Given the description of an element on the screen output the (x, y) to click on. 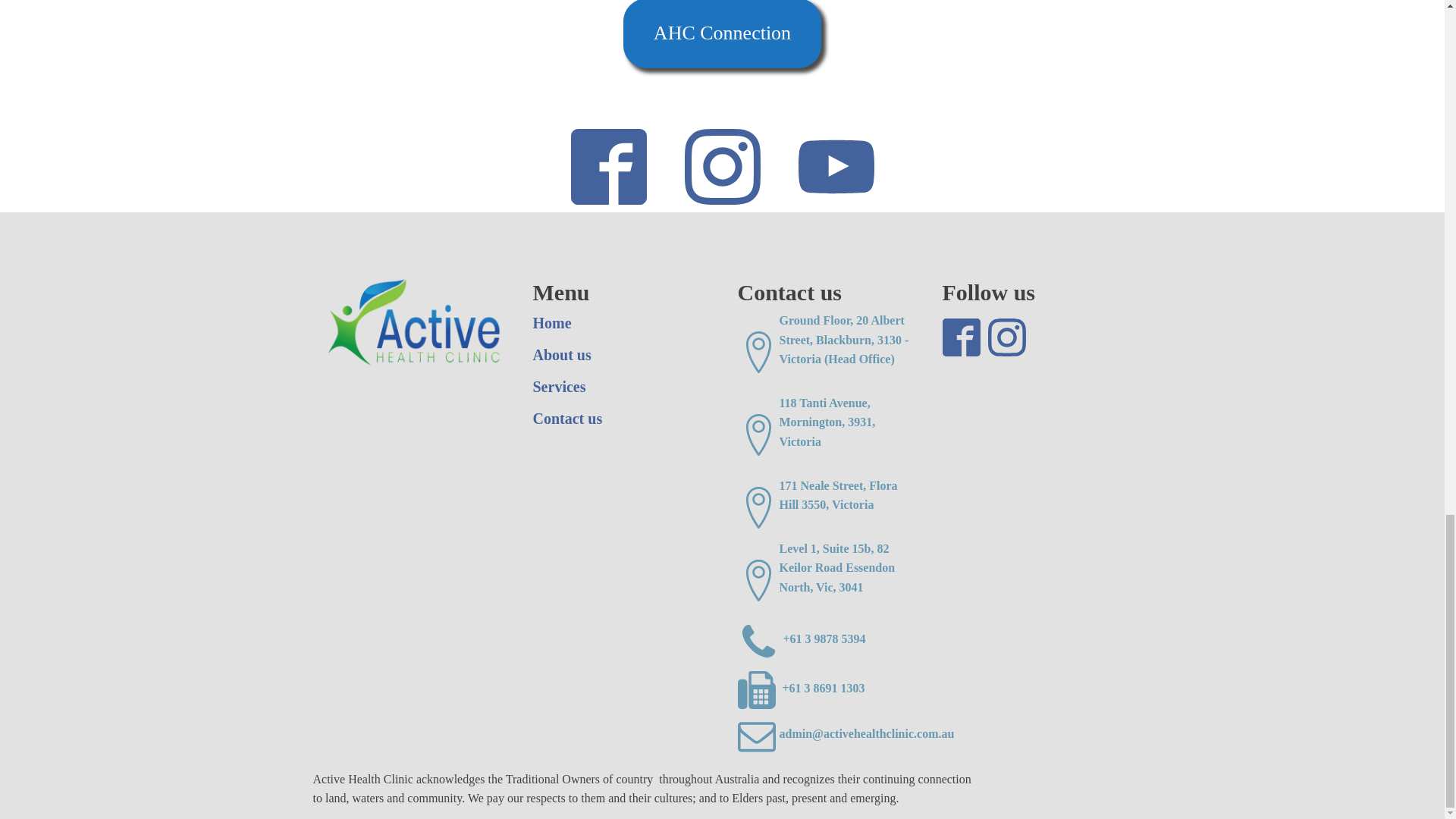
Home (551, 322)
Contact us (567, 418)
Services (558, 386)
AHC Connection (722, 33)
About us (561, 354)
